Given the description of an element on the screen output the (x, y) to click on. 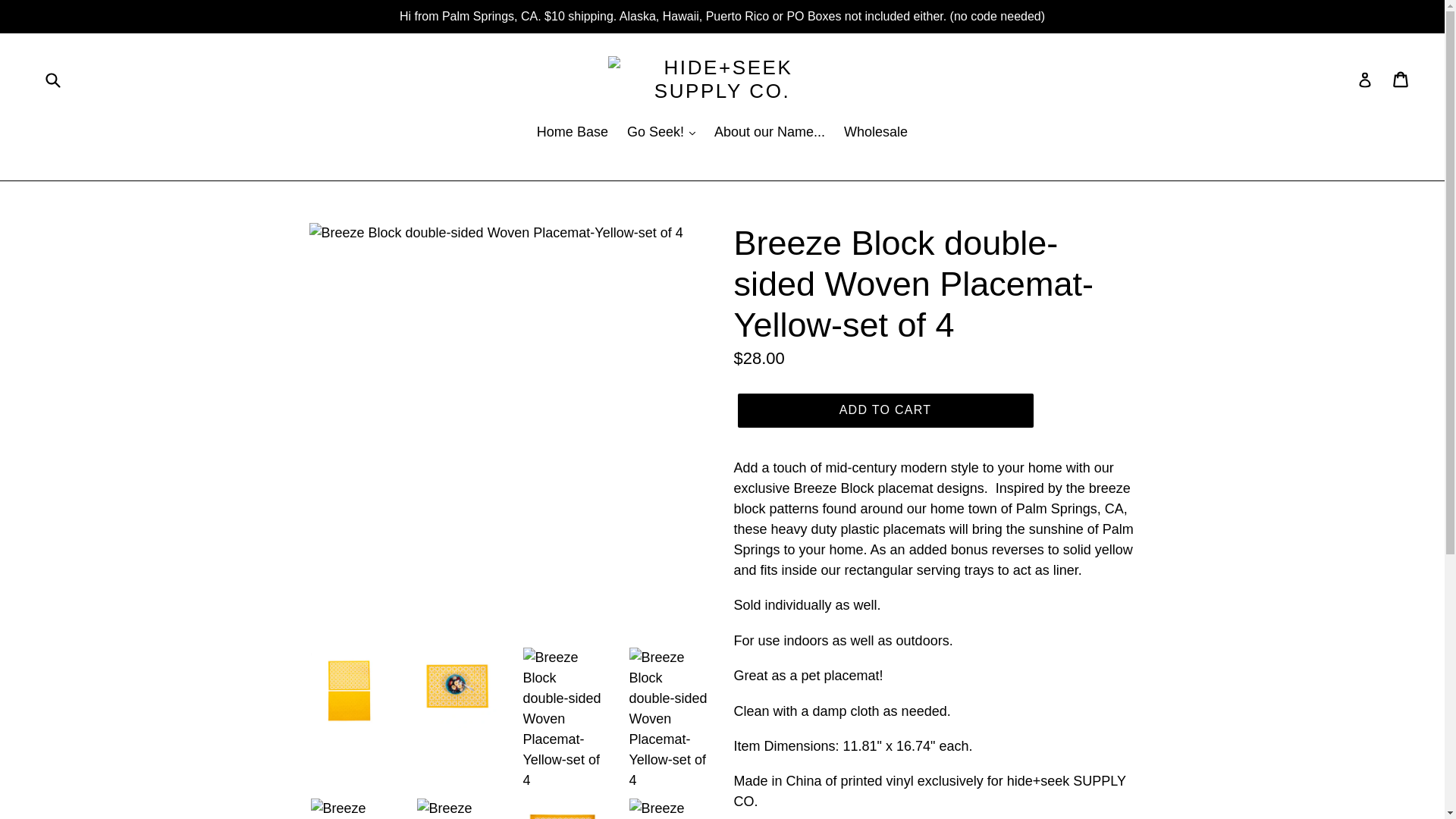
Home Base (572, 133)
About our Name... (769, 133)
